Given the description of an element on the screen output the (x, y) to click on. 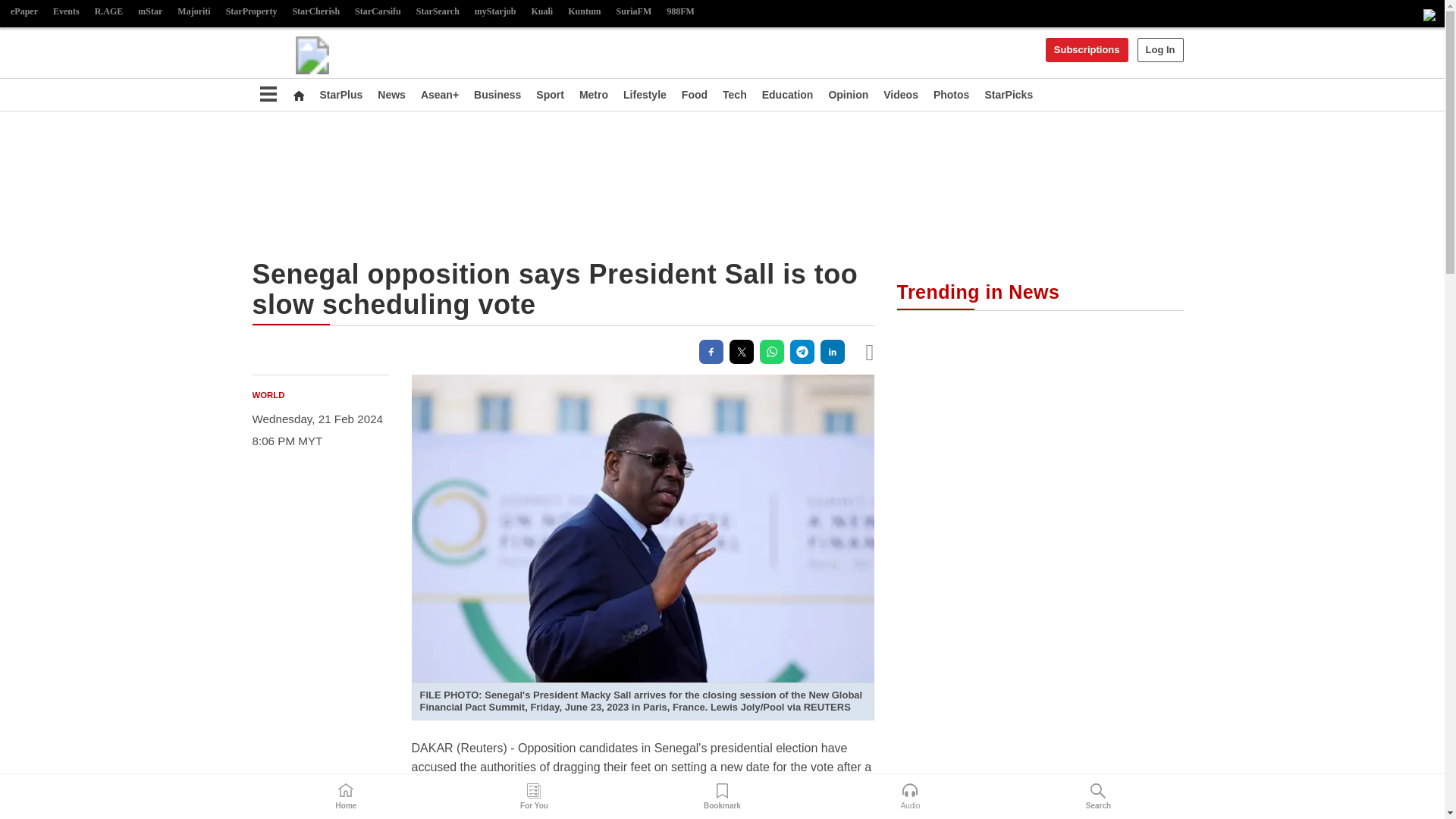
Majoriti (193, 11)
ePaper (23, 11)
StarSearch (438, 11)
988FM (680, 11)
Subscriptions (1086, 49)
myStarjob (495, 11)
Kuntum (584, 11)
R.AGE (109, 11)
StarProperty (251, 11)
SuriaFM (633, 11)
Events (66, 11)
mStar (150, 11)
Kuali (542, 11)
StarCherish (315, 11)
StarCarsifu (378, 11)
